Given the description of an element on the screen output the (x, y) to click on. 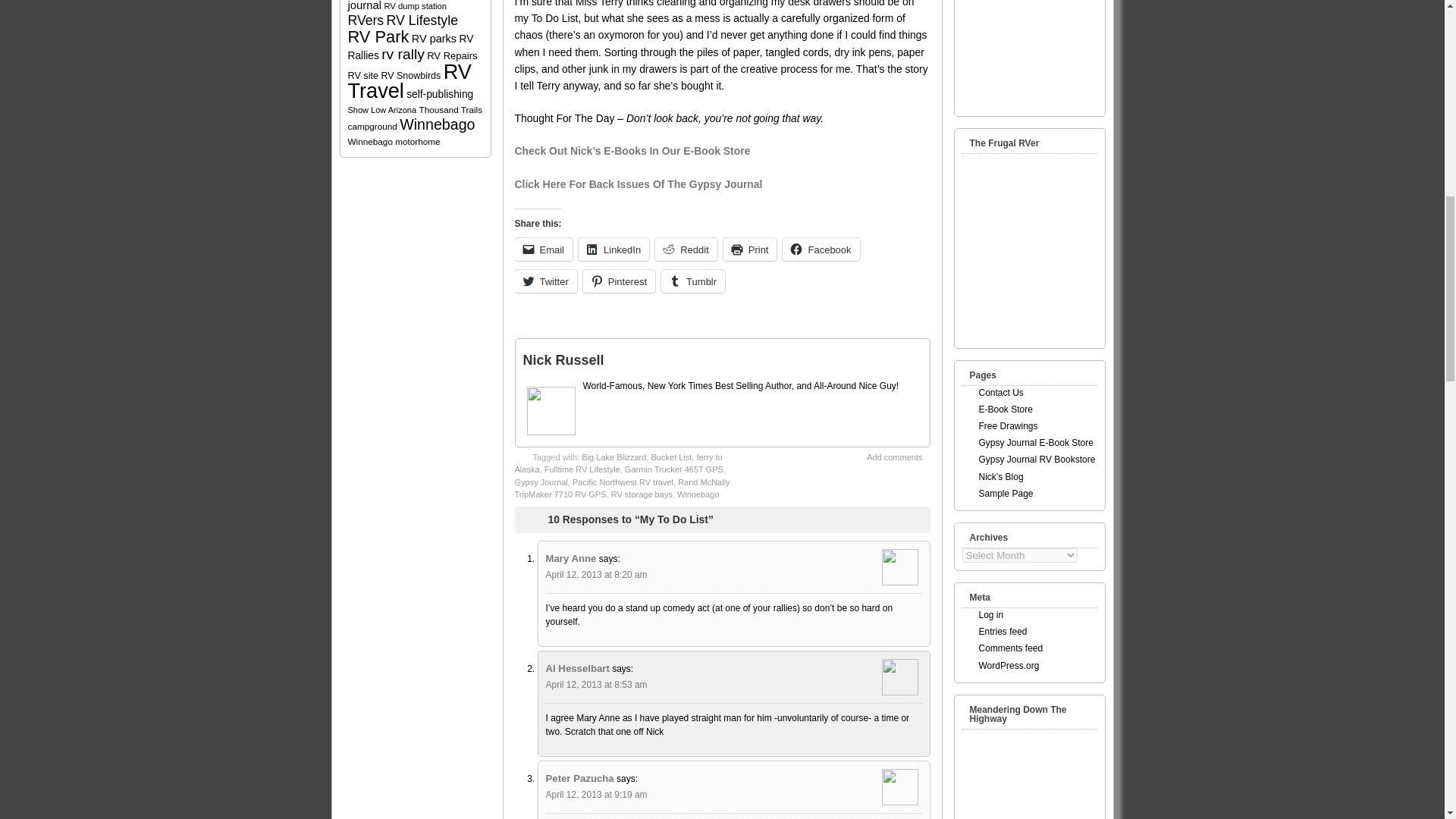
Tumblr (693, 281)
Twitter (544, 281)
Garmin Trucker 465T GPS (673, 469)
Click to share on Facebook (821, 249)
Reddit (686, 249)
Click Here For Back Issues Of The Gypsy Journal (637, 184)
Big Lake Blizzard (613, 456)
Email (542, 249)
Click to email a link to a friend (542, 249)
Click to share on LinkedIn (613, 249)
